Given the description of an element on the screen output the (x, y) to click on. 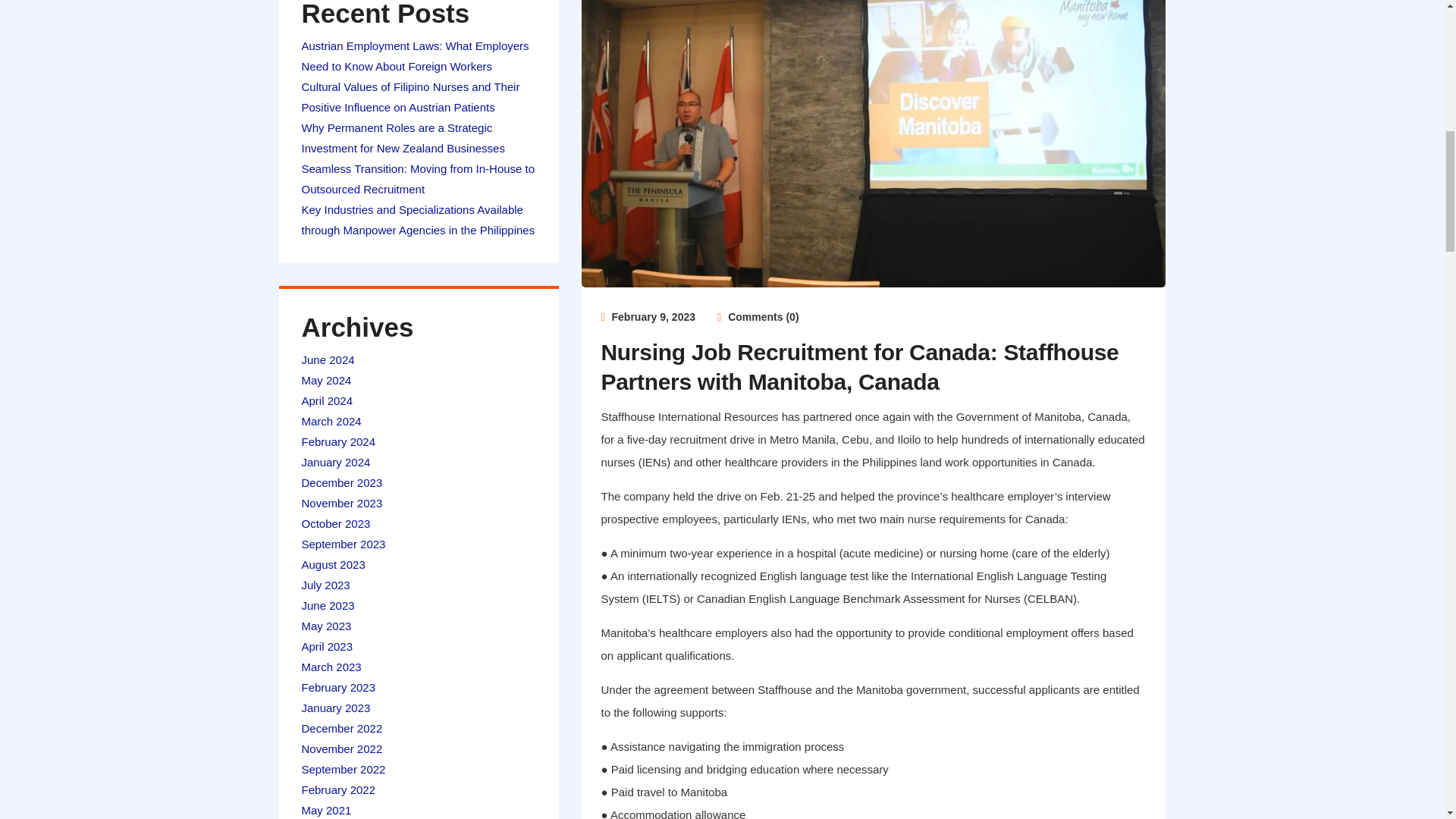
October 2023 (336, 522)
February 2024 (338, 440)
November 2023 (341, 502)
September 2023 (343, 543)
May 2023 (326, 625)
August 2023 (333, 563)
March 2024 (331, 420)
January 2024 (336, 461)
April 2024 (327, 400)
June 2024 (328, 359)
June 2023 (328, 604)
